Given the description of an element on the screen output the (x, y) to click on. 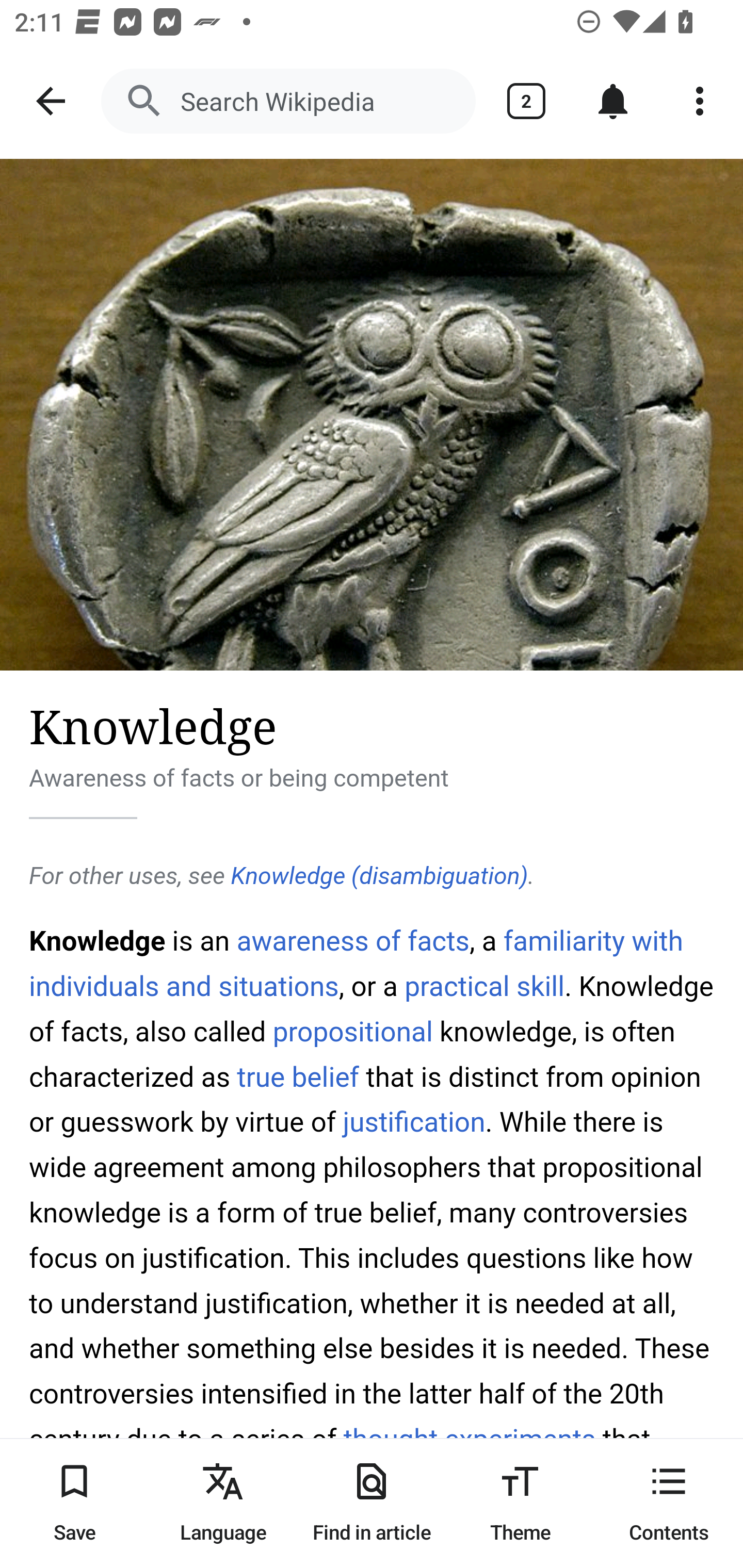
Show tabs 2 (525, 100)
Notifications (612, 100)
Navigate up (50, 101)
More options (699, 101)
Search Wikipedia (288, 100)
Image: Knowledge (371, 414)
Knowledge (disambiguation) (378, 876)
familiarity with individuals and situations (356, 963)
awareness of facts (352, 940)
practical skill (484, 986)
propositional (352, 1031)
true (260, 1076)
belief (325, 1076)
justification (413, 1121)
Save (74, 1502)
Language (222, 1502)
Find in article (371, 1502)
Theme (519, 1502)
Contents (668, 1502)
